Given the description of an element on the screen output the (x, y) to click on. 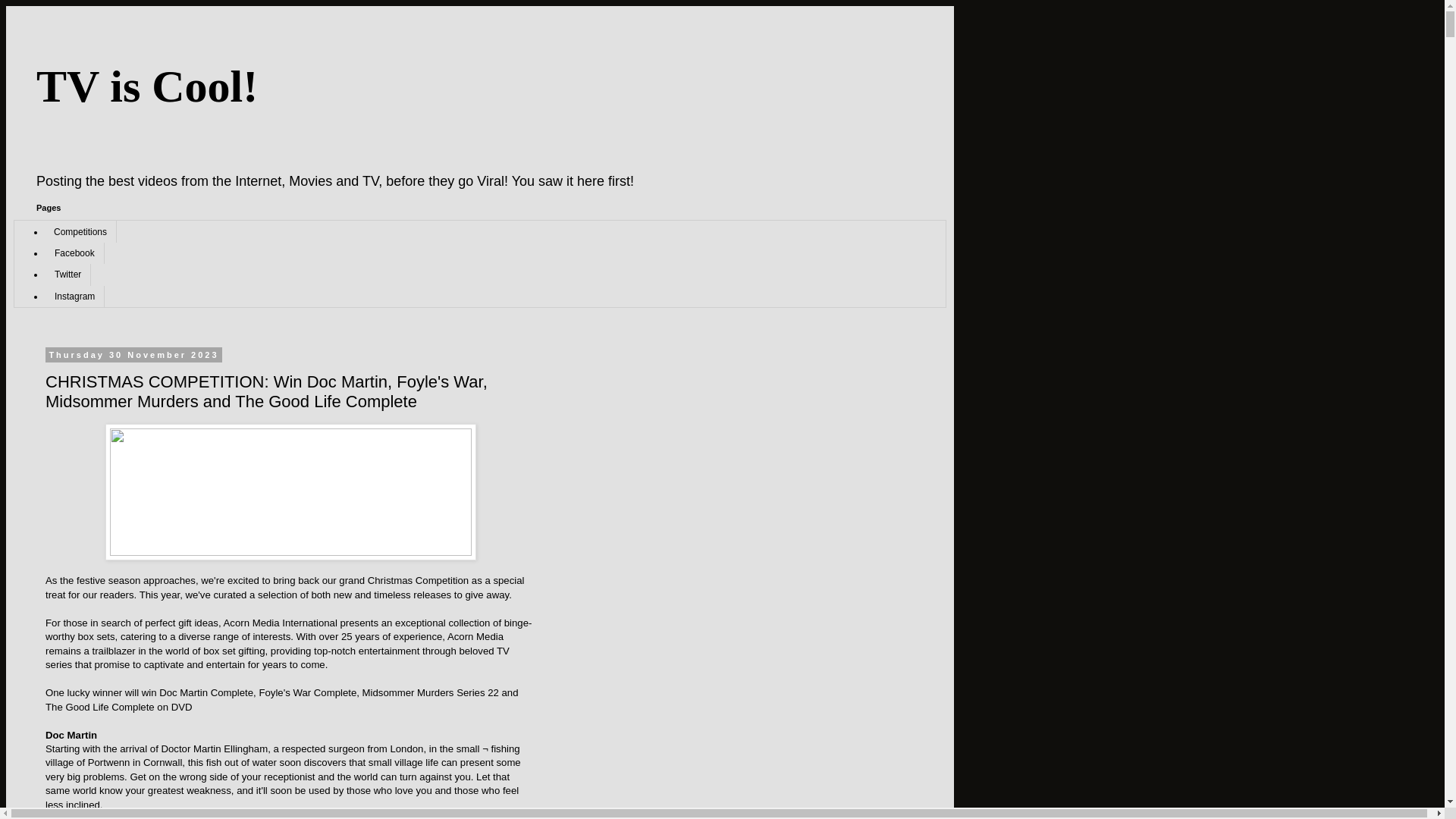
Twitter (67, 274)
Facebook (74, 252)
TV is Cool! (146, 86)
Competitions (80, 230)
Instagram (74, 295)
